Given the description of an element on the screen output the (x, y) to click on. 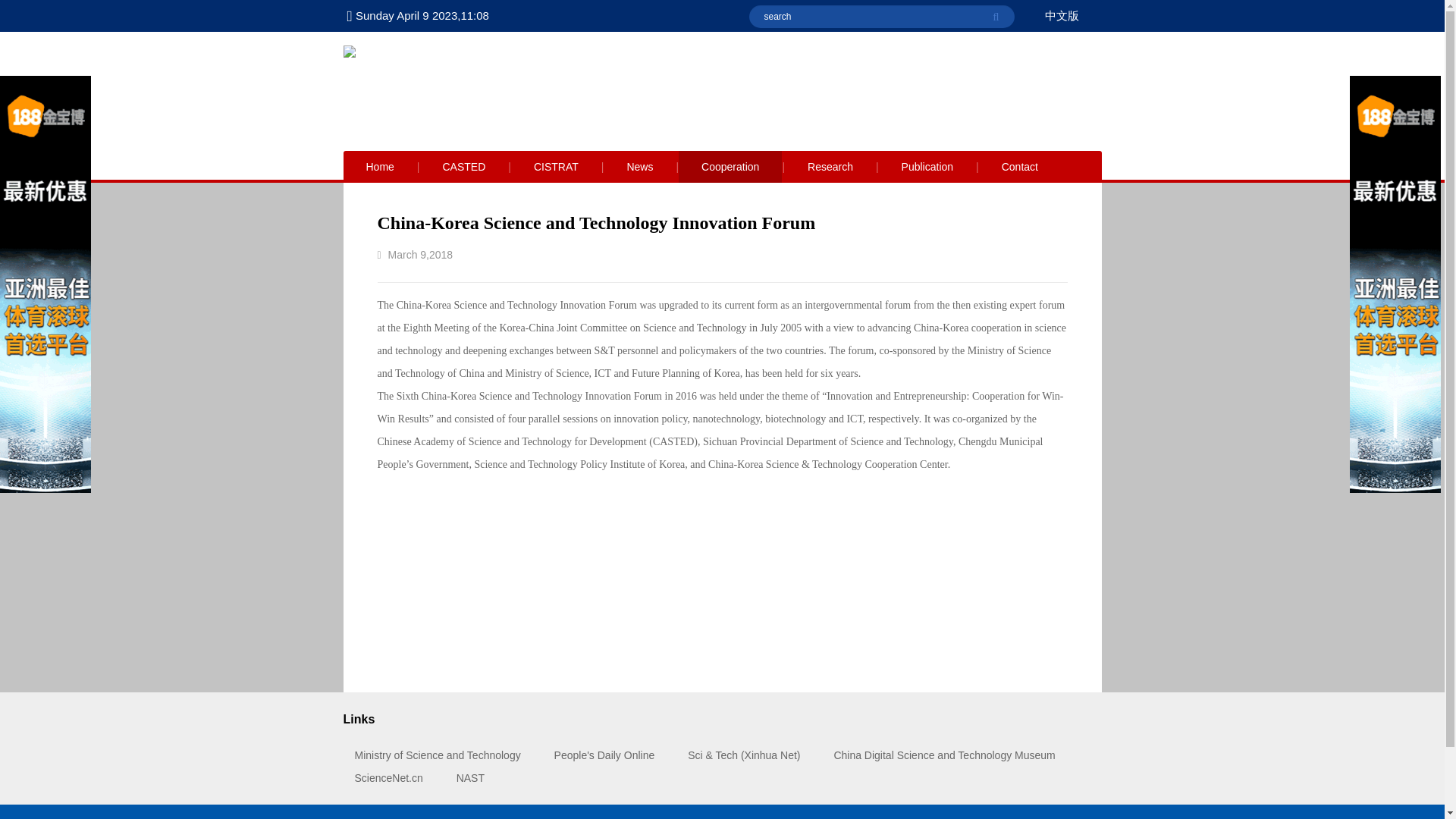
People's Daily Online (604, 755)
News (639, 166)
Contact (1019, 166)
Publication (927, 166)
CISTRAT (556, 166)
NAST (470, 777)
ScienceNet.cn (389, 777)
Cooperation (729, 166)
Ministry of Science and Technology (438, 755)
CASTED (464, 166)
